Given the description of an element on the screen output the (x, y) to click on. 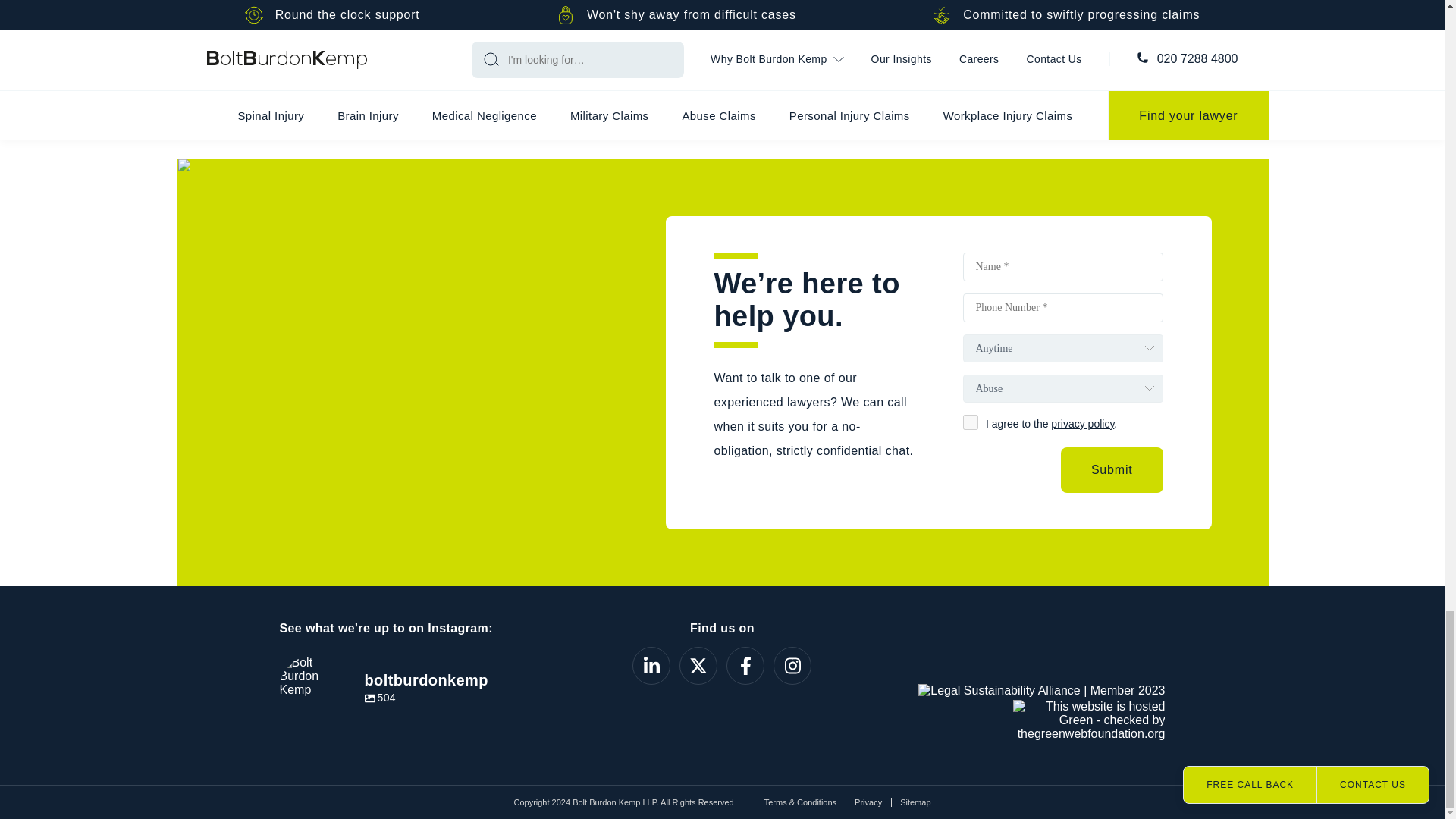
1 (970, 421)
Submit (1112, 470)
